Given the description of an element on the screen output the (x, y) to click on. 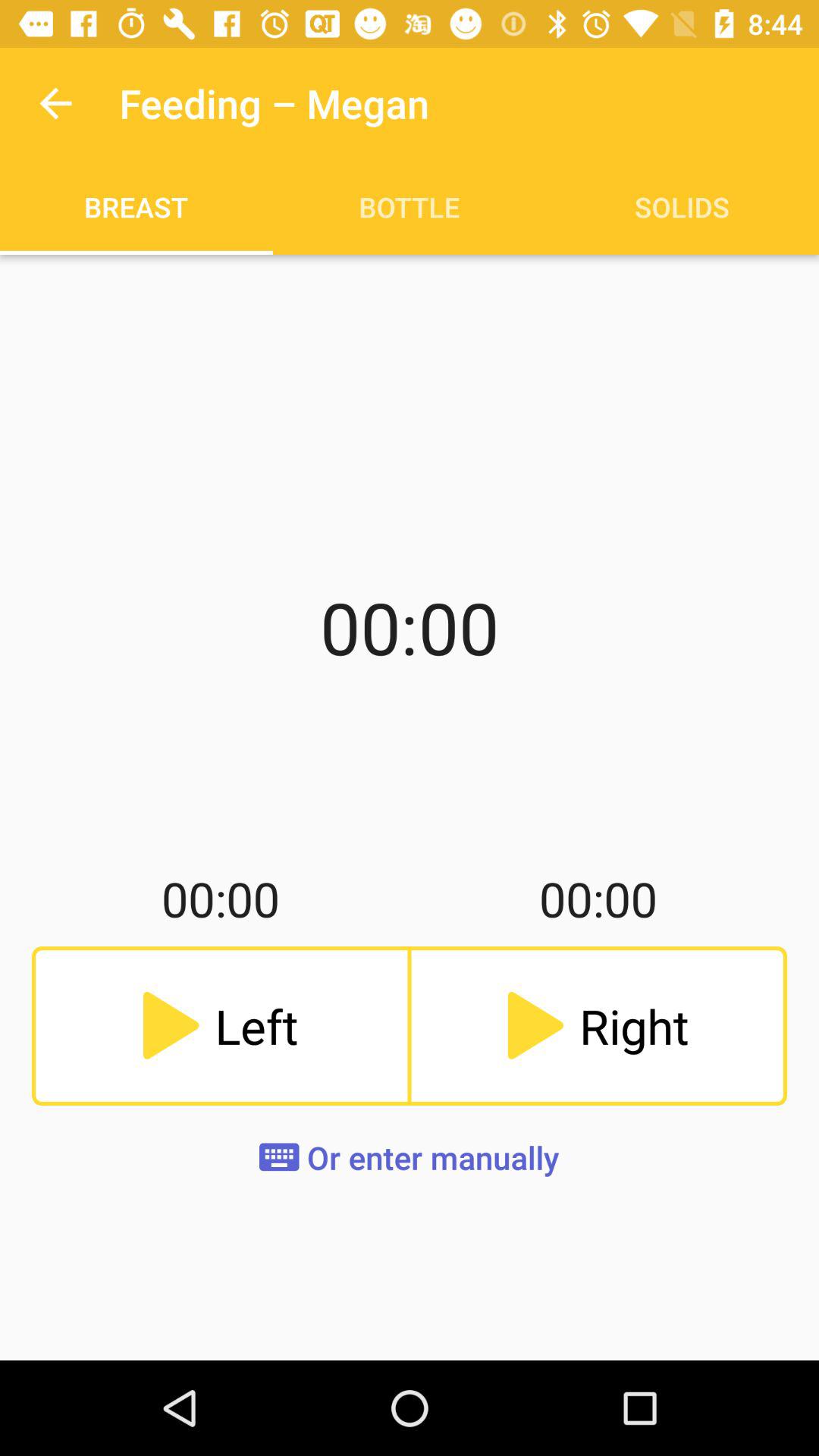
click item below left (408, 1157)
